Given the description of an element on the screen output the (x, y) to click on. 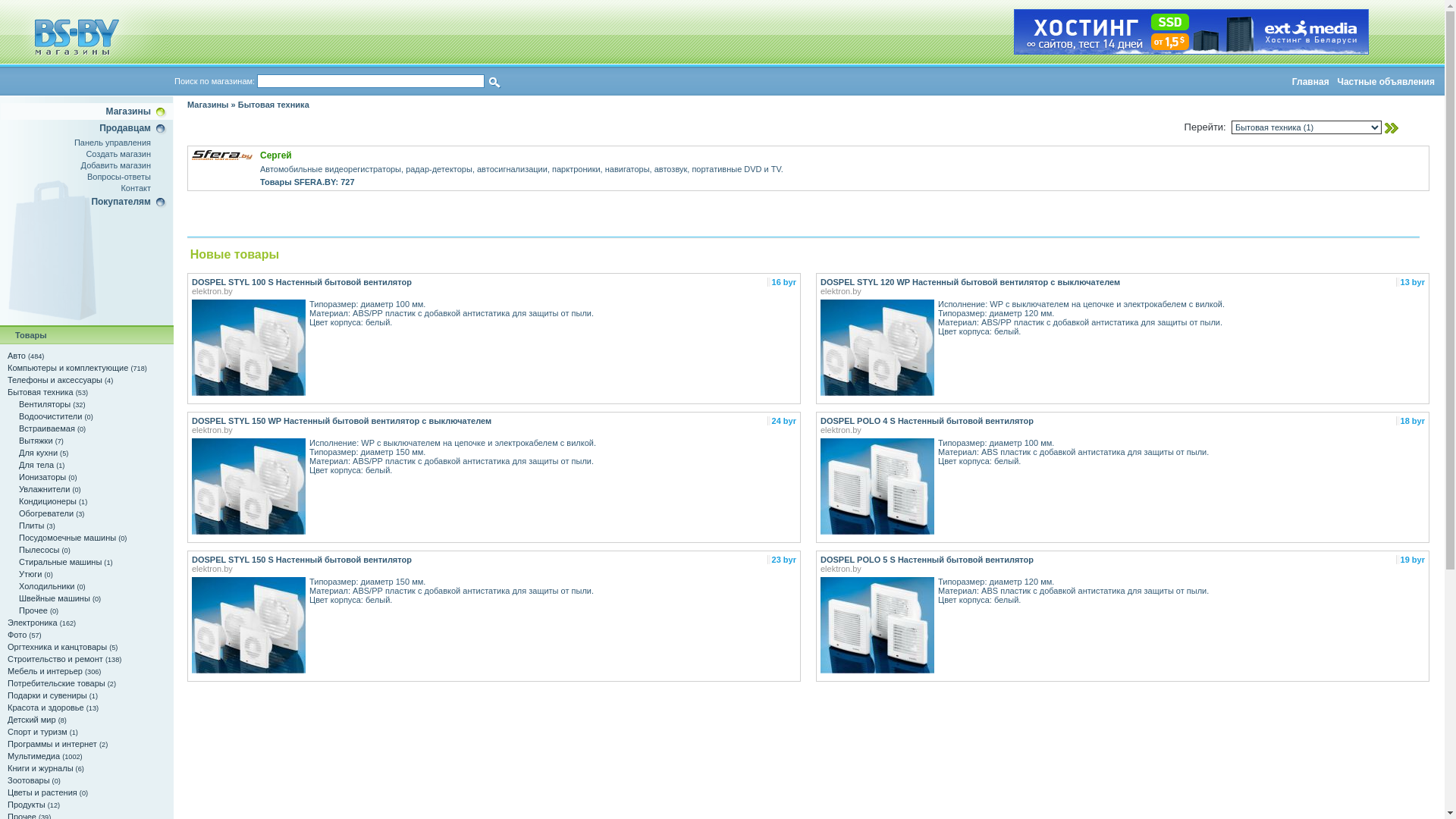
elektron.by Element type: text (1084, 429)
elektron.by Element type: text (455, 290)
sfera.by Element type: hover (221, 155)
elektron.by Element type: text (1084, 568)
elektron.by Element type: text (455, 568)
elektron.by Element type: text (455, 429)
elektron.by Element type: text (1084, 290)
